Given the description of an element on the screen output the (x, y) to click on. 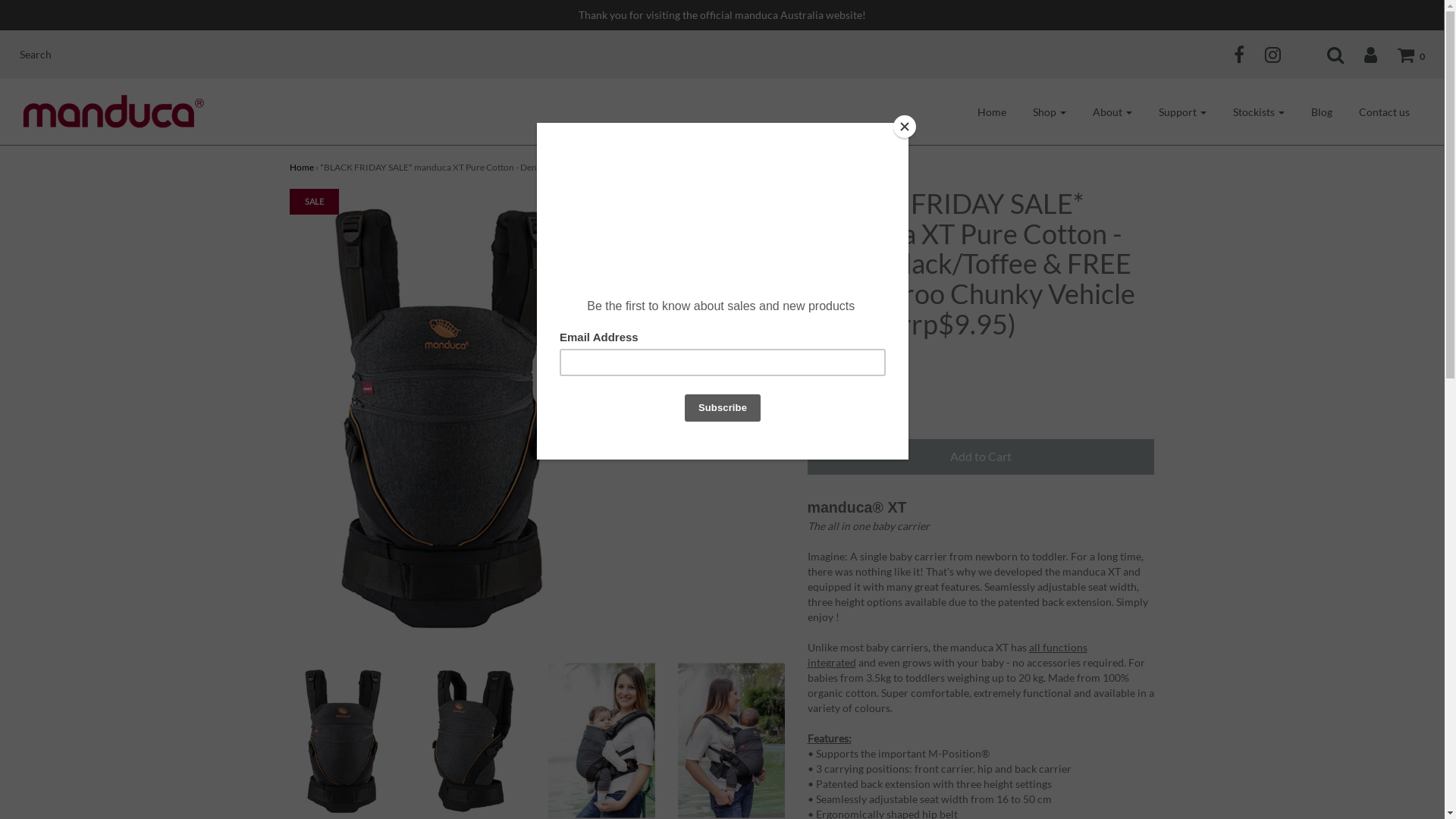
Stockists Element type: text (1258, 111)
Log in Element type: hover (1361, 54)
Support Element type: text (1182, 111)
Blog Element type: text (1321, 111)
Contact us Element type: text (1384, 111)
Search Element type: hover (1325, 54)
Shop Element type: text (1049, 111)
Add to Cart Element type: text (980, 456)
Home Element type: text (301, 166)
Search Element type: text (46, 54)
Home Element type: text (991, 111)
0 Element type: text (1401, 54)
About Element type: text (1112, 111)
